Given the description of an element on the screen output the (x, y) to click on. 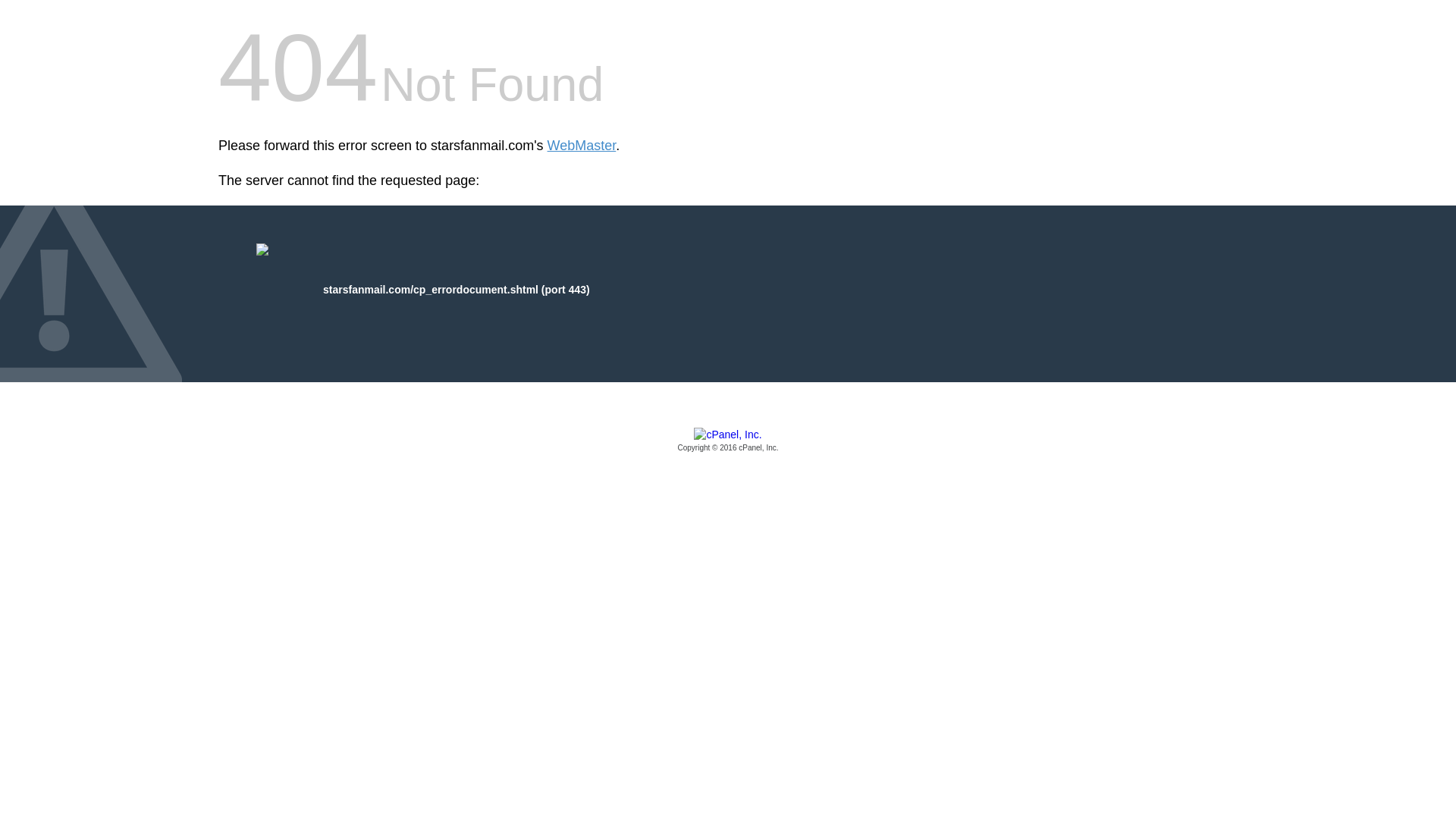
WebMaster (581, 145)
cPanel, Inc. (727, 440)
